Given the description of an element on the screen output the (x, y) to click on. 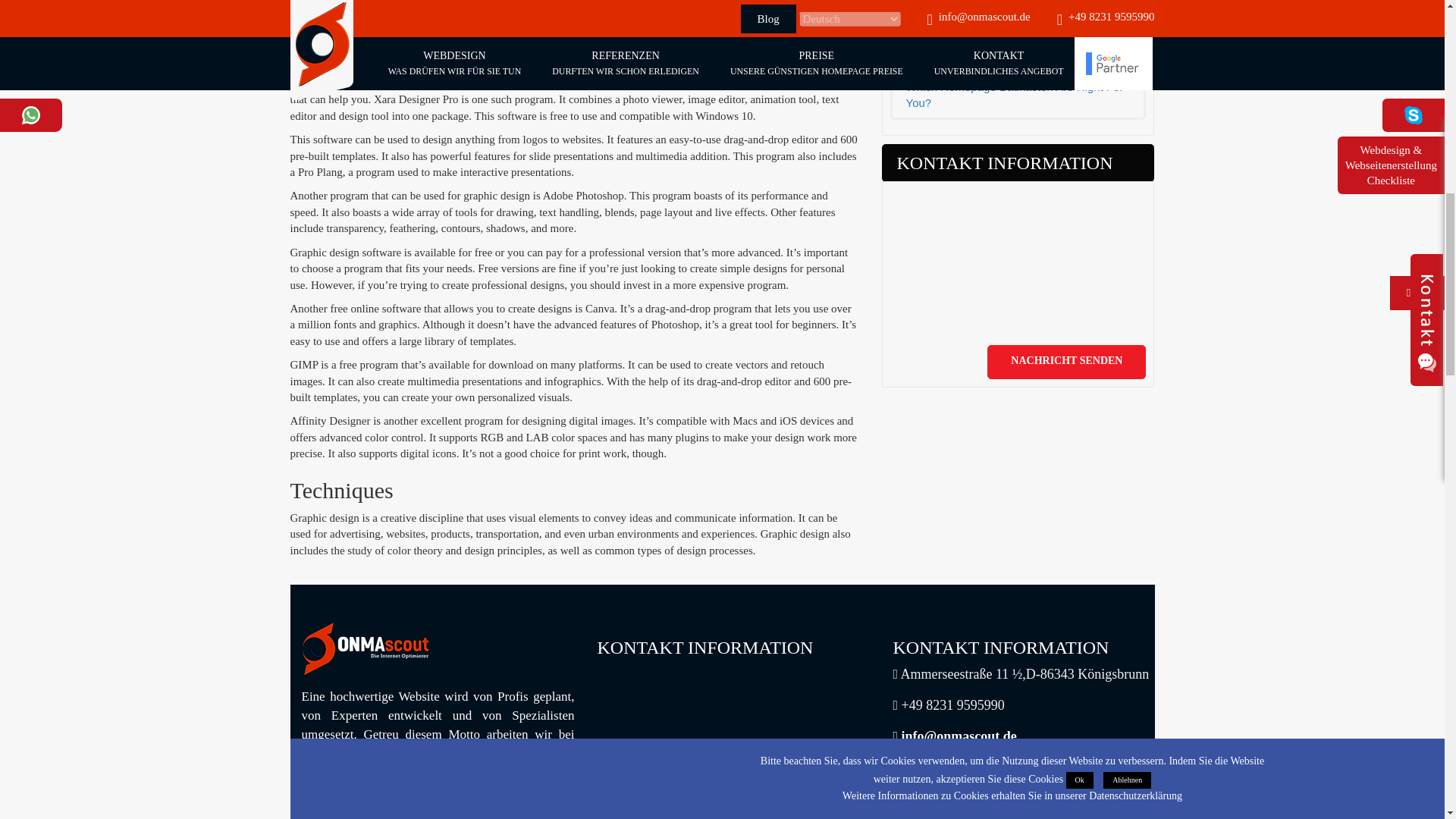
Jobs Available For a Graphikdesigner (1018, 41)
Which Homepage Baukasten Are Right For You? (1018, 93)
9 Key Elements of Corporate Design (1018, 8)
Nachricht Senden (1066, 361)
OnmaScout (365, 648)
Nachricht Senden (1066, 361)
